Given the description of an element on the screen output the (x, y) to click on. 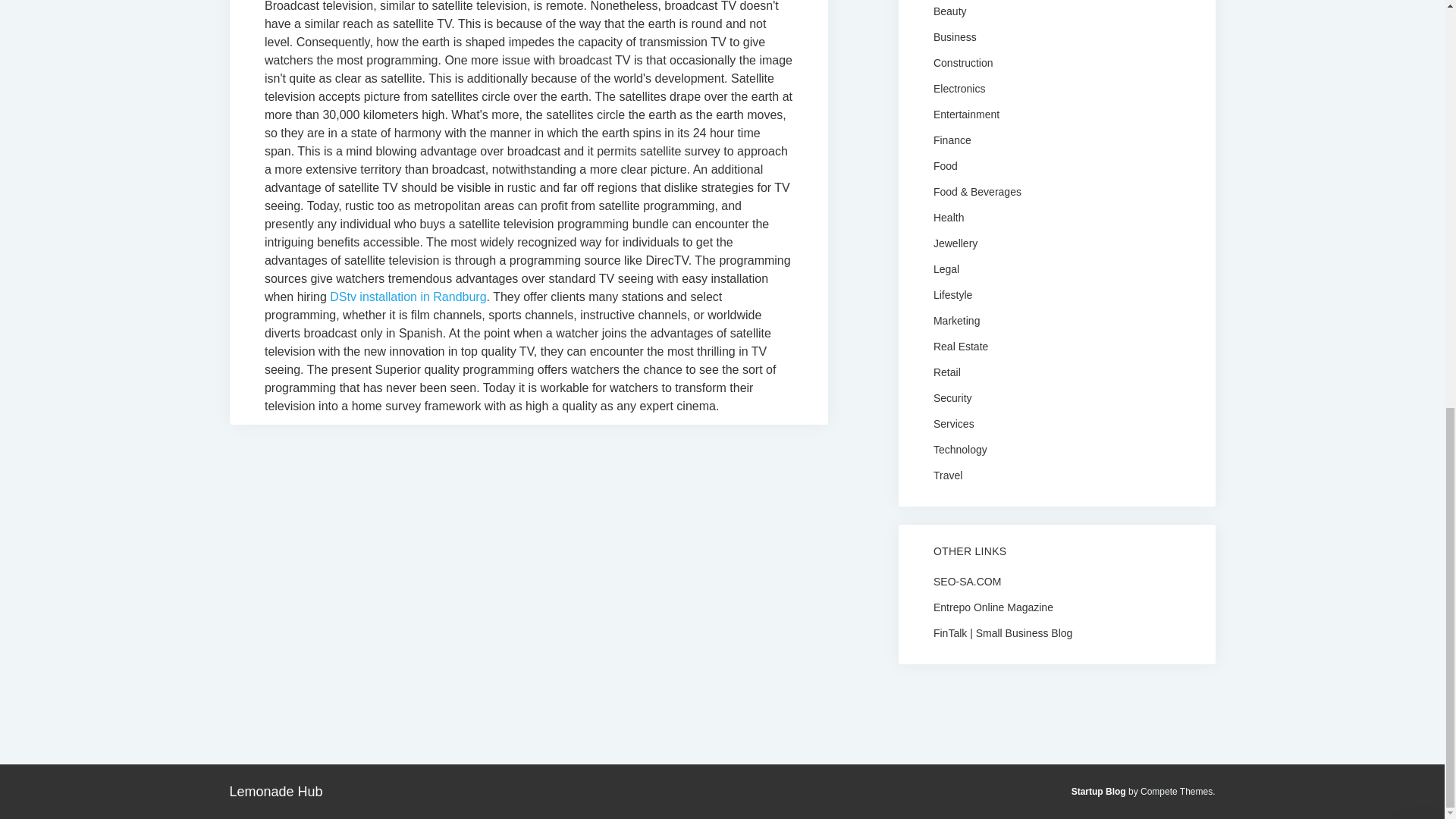
Food (945, 164)
DStv installation in Randburg (408, 296)
Construction (962, 61)
nofollow (967, 580)
Health (948, 216)
Business (954, 36)
Marketing (956, 319)
Entertainment (965, 113)
Legal (946, 268)
Jewellery (954, 242)
nofollow (992, 606)
Beauty (949, 10)
Electronics (959, 87)
Finance (952, 139)
nofollow (1002, 632)
